Given the description of an element on the screen output the (x, y) to click on. 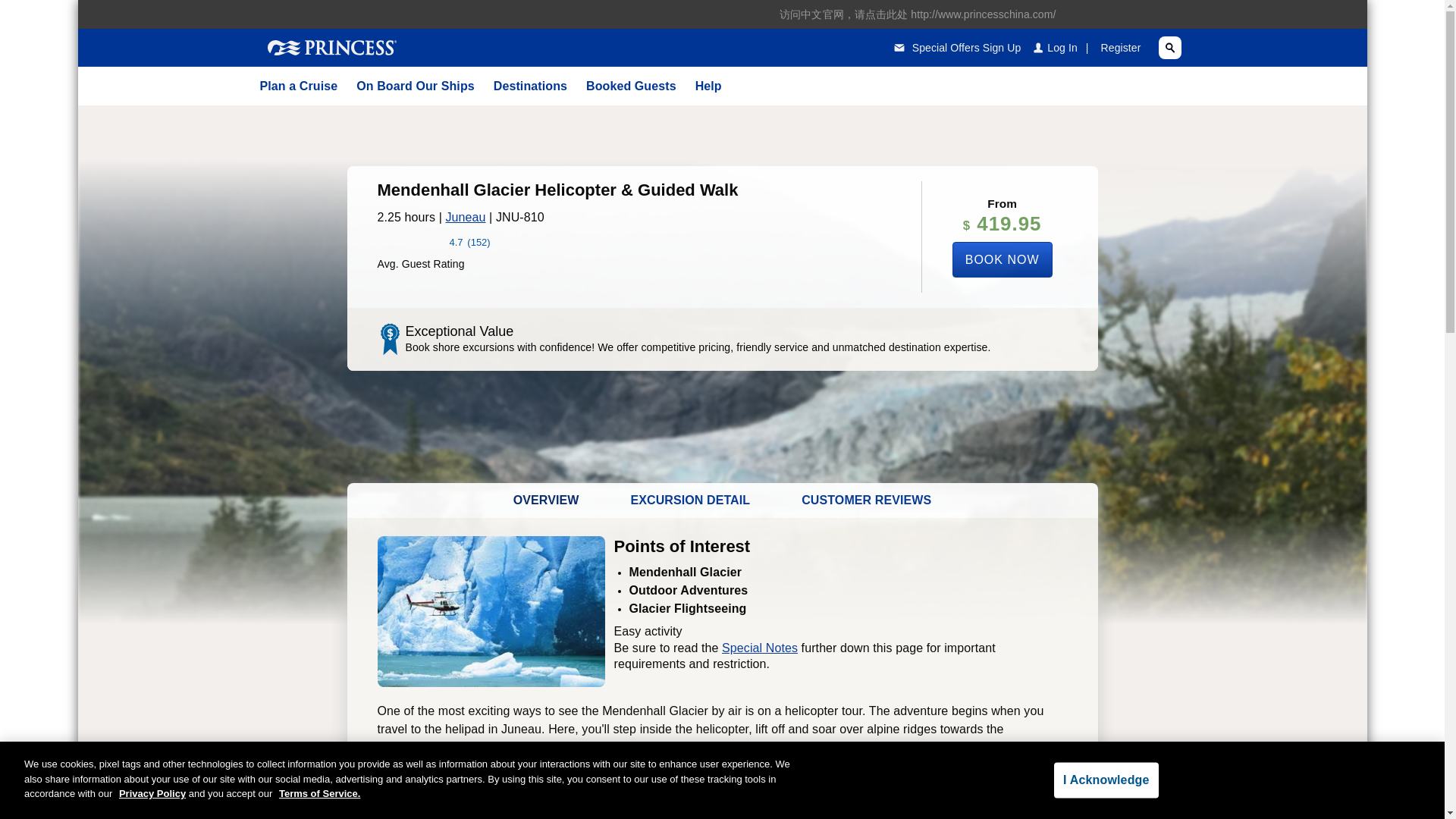
Terms of Service. (319, 793)
Privacy Policy (152, 793)
OVERVIEW (546, 500)
Special Notes (759, 647)
CUSTOMER REVIEWS (866, 500)
EXCURSION DETAIL (689, 500)
Juneau (464, 216)
I Acknowledge (1106, 780)
BOOK NOW (1002, 259)
